Given the description of an element on the screen output the (x, y) to click on. 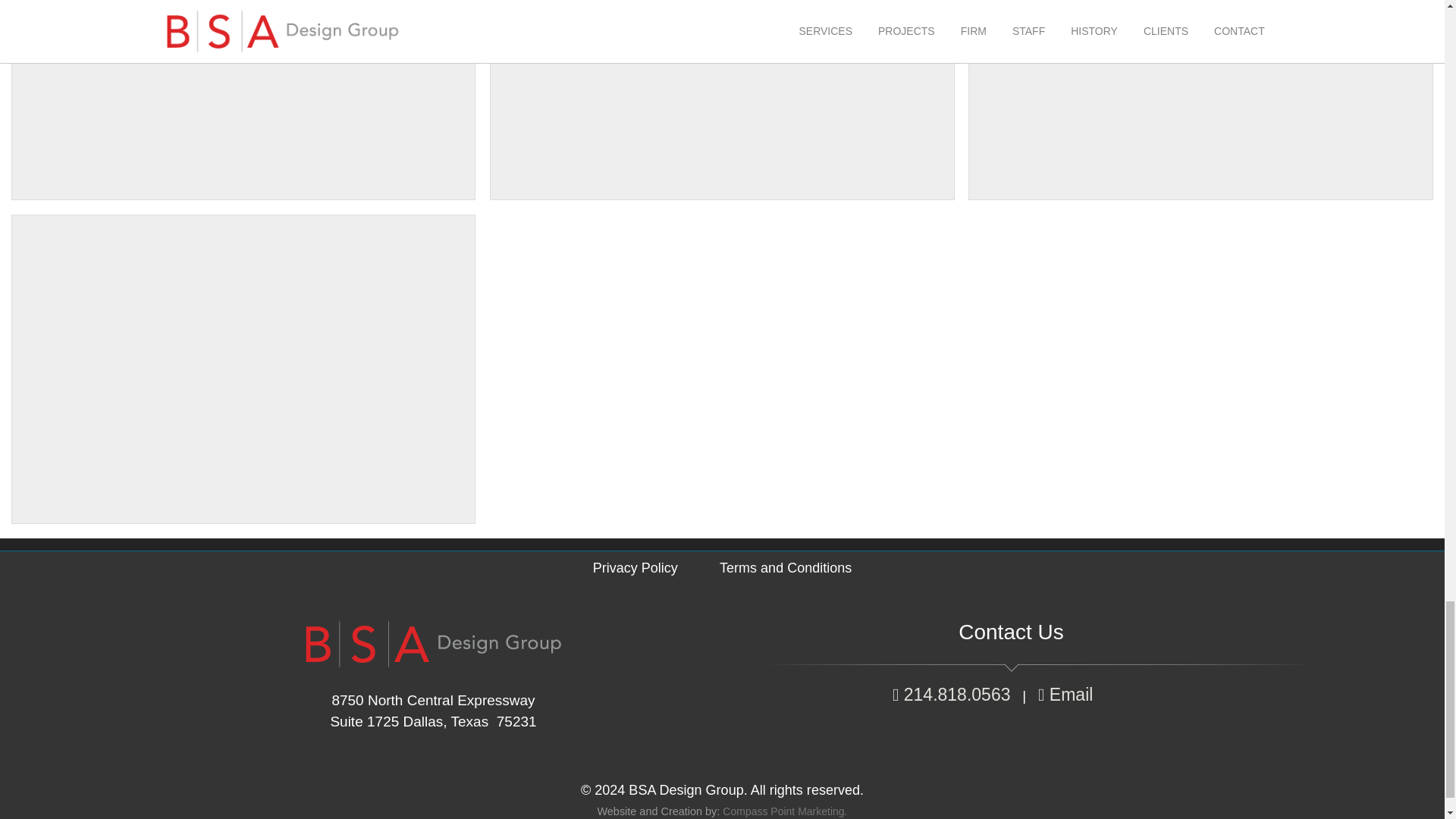
Terms and Conditions (785, 567)
Compass Point Marketing. (784, 811)
Email (1067, 694)
Privacy Policy (635, 567)
214.818.0563 (951, 694)
